Given the description of an element on the screen output the (x, y) to click on. 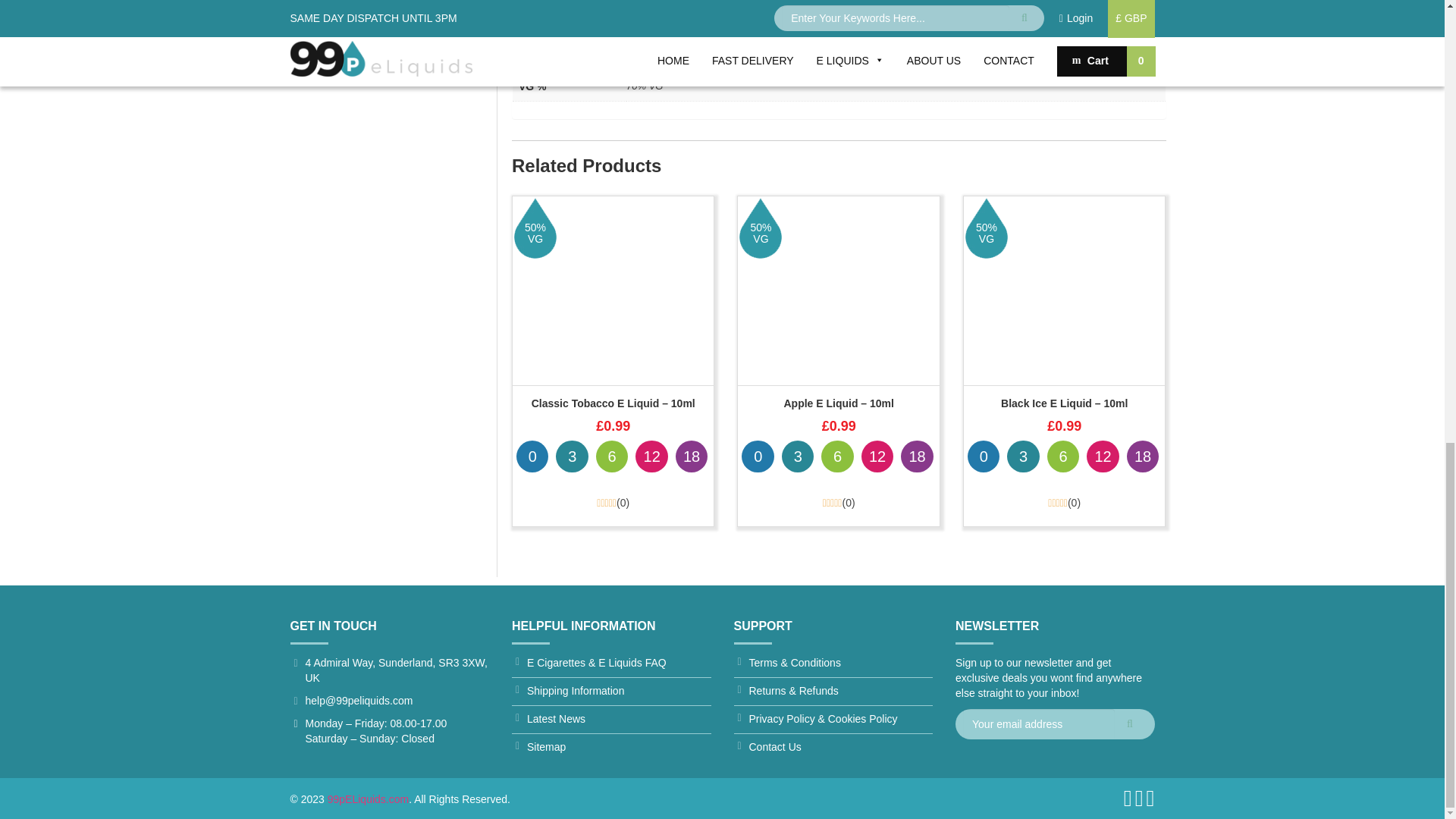
6 mg Nicotine Strength is in Stock (611, 456)
0 mg Nicotine Strength is in Stock (757, 456)
12 mg Nicotine Strength is in Stock (650, 456)
18 mg Nicotine Strength is in Stock (691, 456)
3 mg Nicotine Strength is in Stock (572, 456)
0 mg Nicotine Strength is in Stock (532, 456)
